Given the description of an element on the screen output the (x, y) to click on. 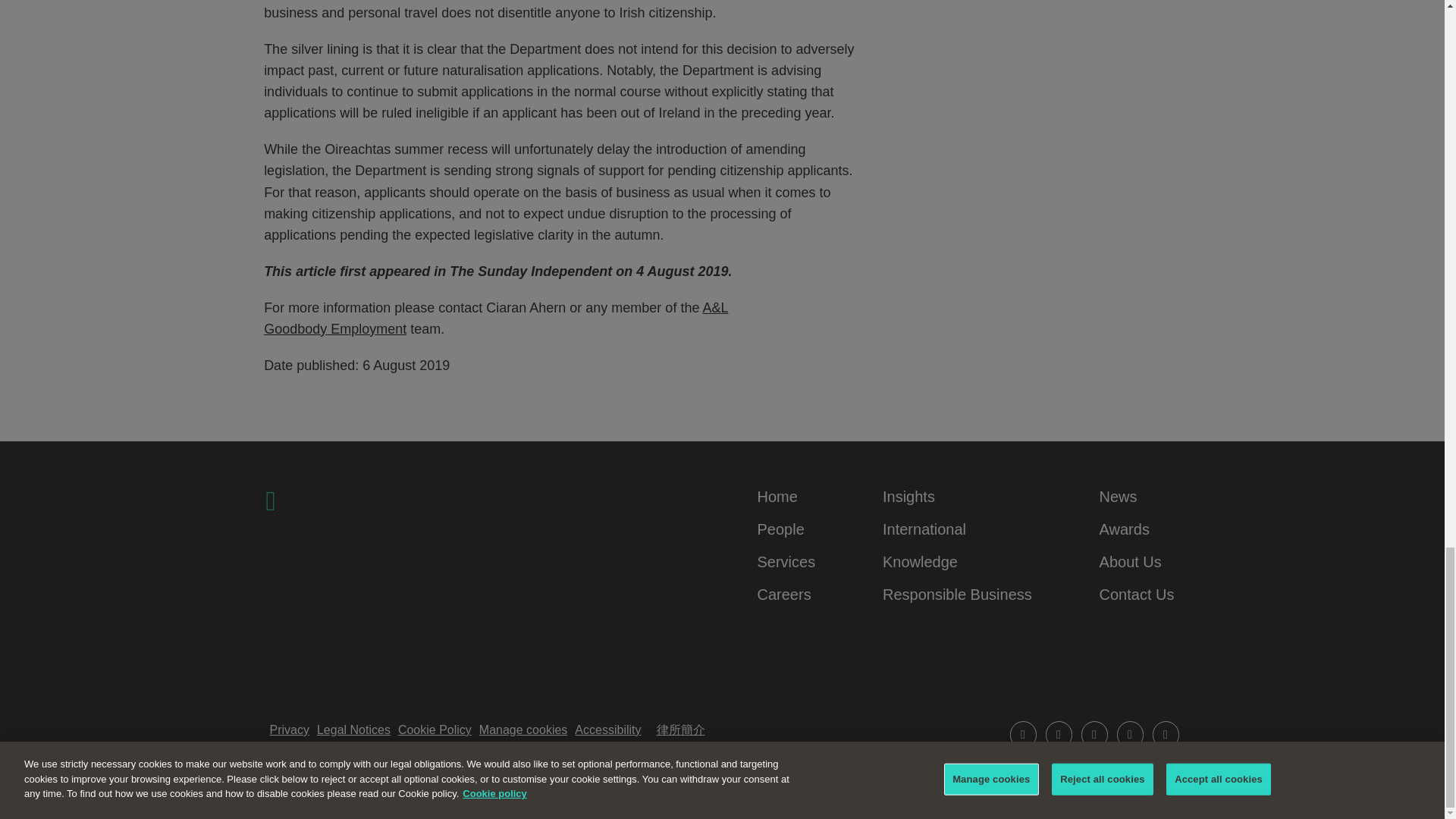
Back to top (1147, 768)
Back to top (1147, 767)
